Given the description of an element on the screen output the (x, y) to click on. 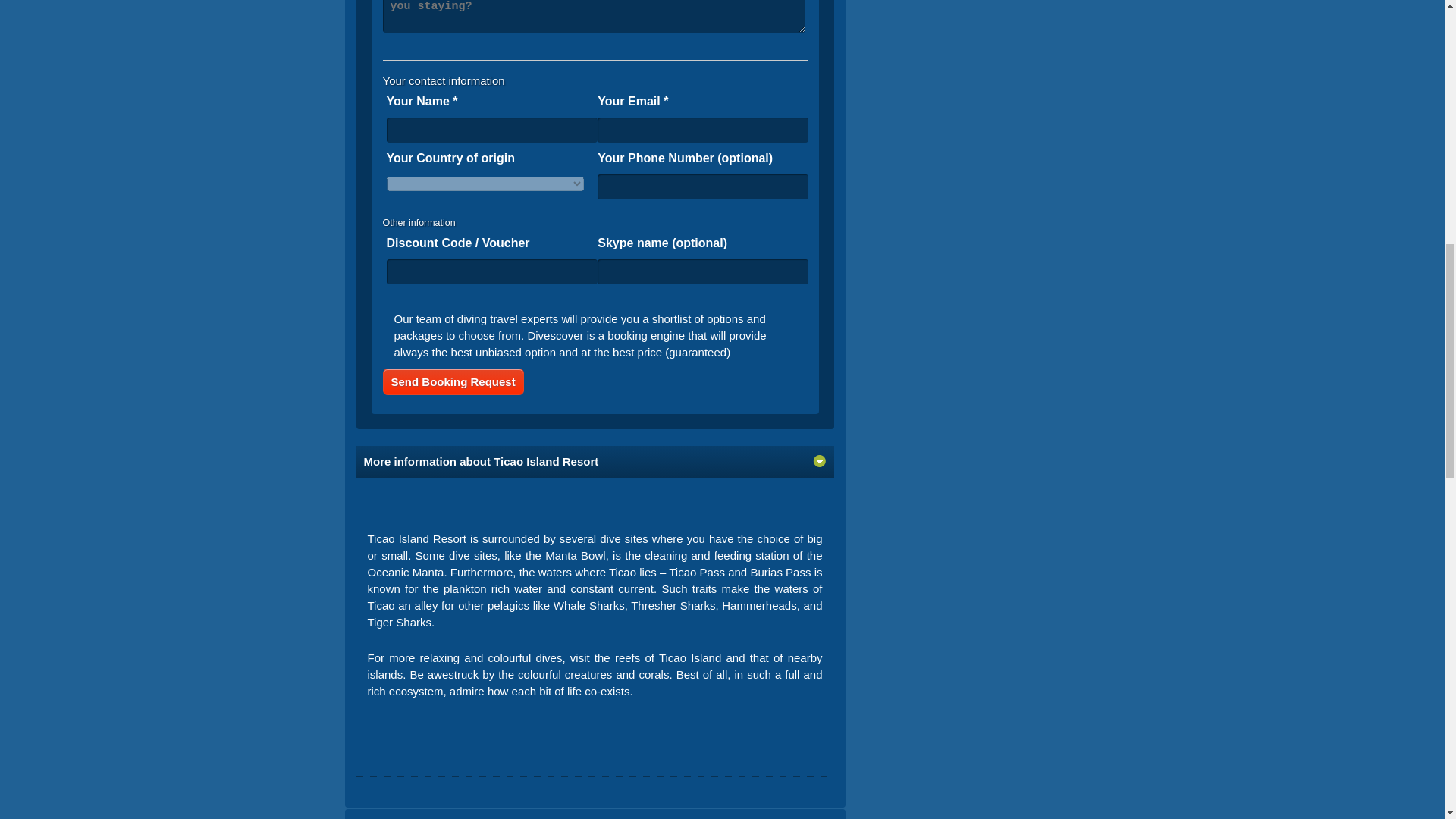
Send Booking Request (451, 381)
